Given the description of an element on the screen output the (x, y) to click on. 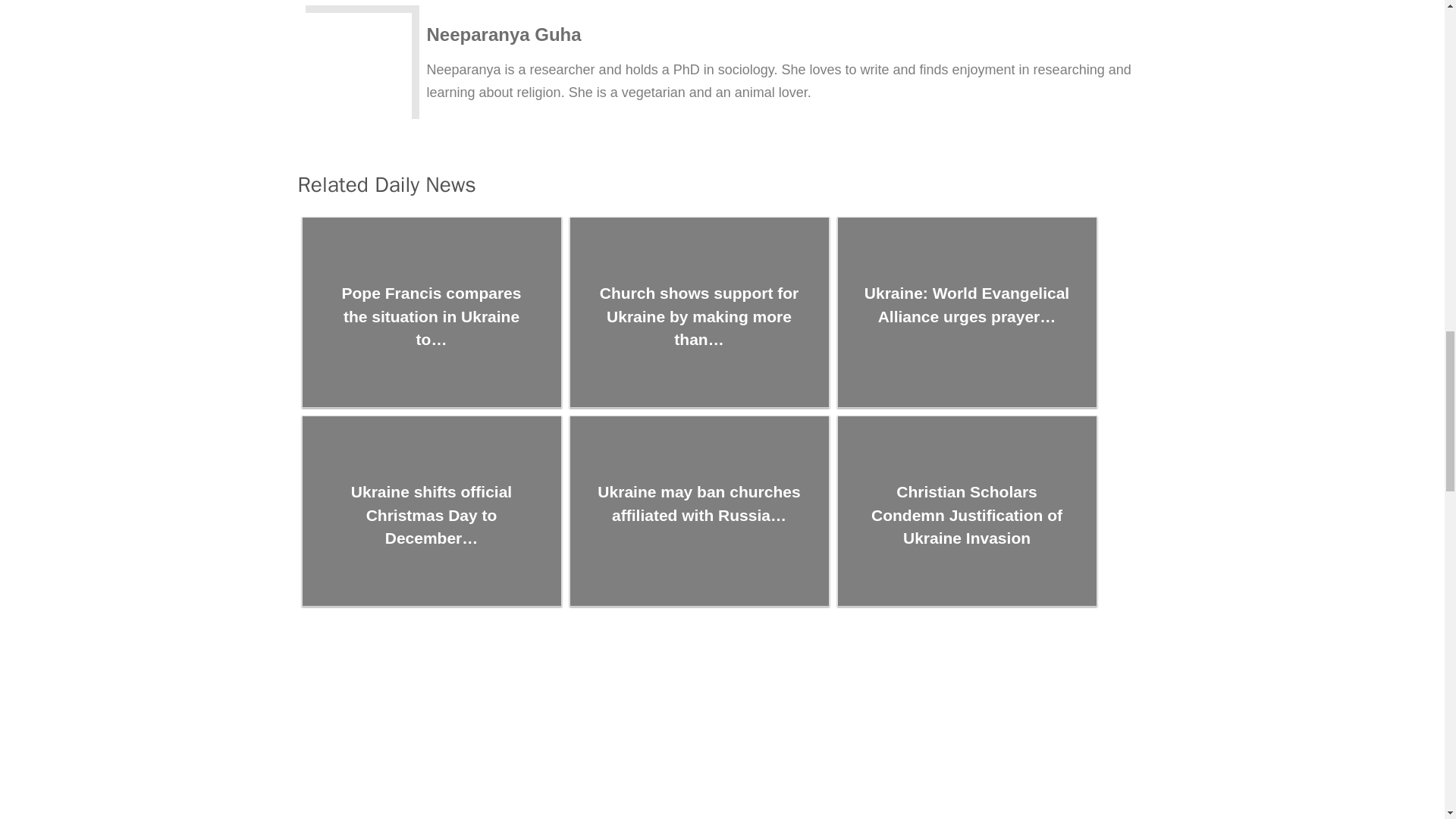
Christian Scholars Condemn Justification of Ukraine Invasion (966, 511)
